Given the description of an element on the screen output the (x, y) to click on. 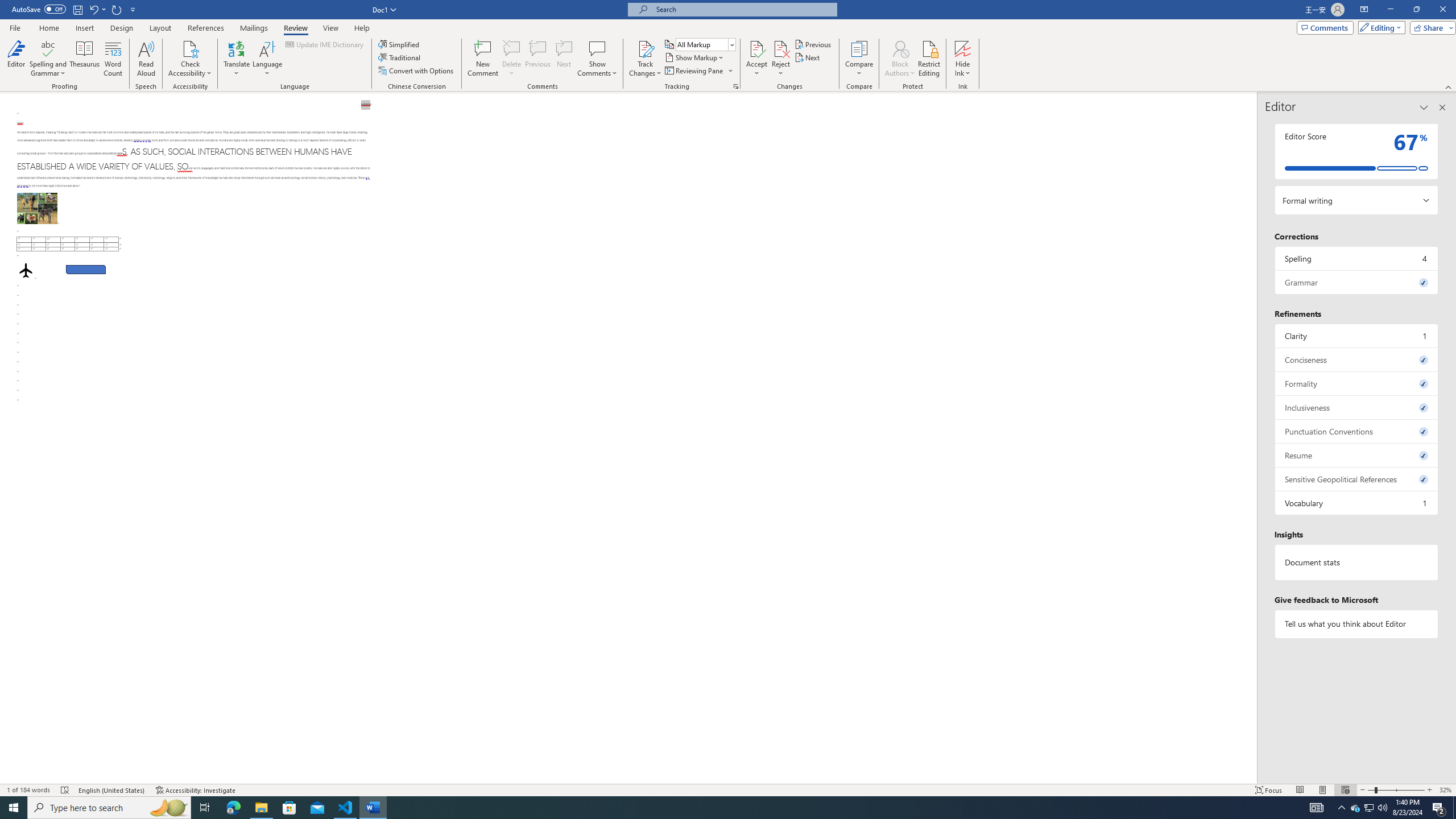
Close (1442, 9)
